Given the description of an element on the screen output the (x, y) to click on. 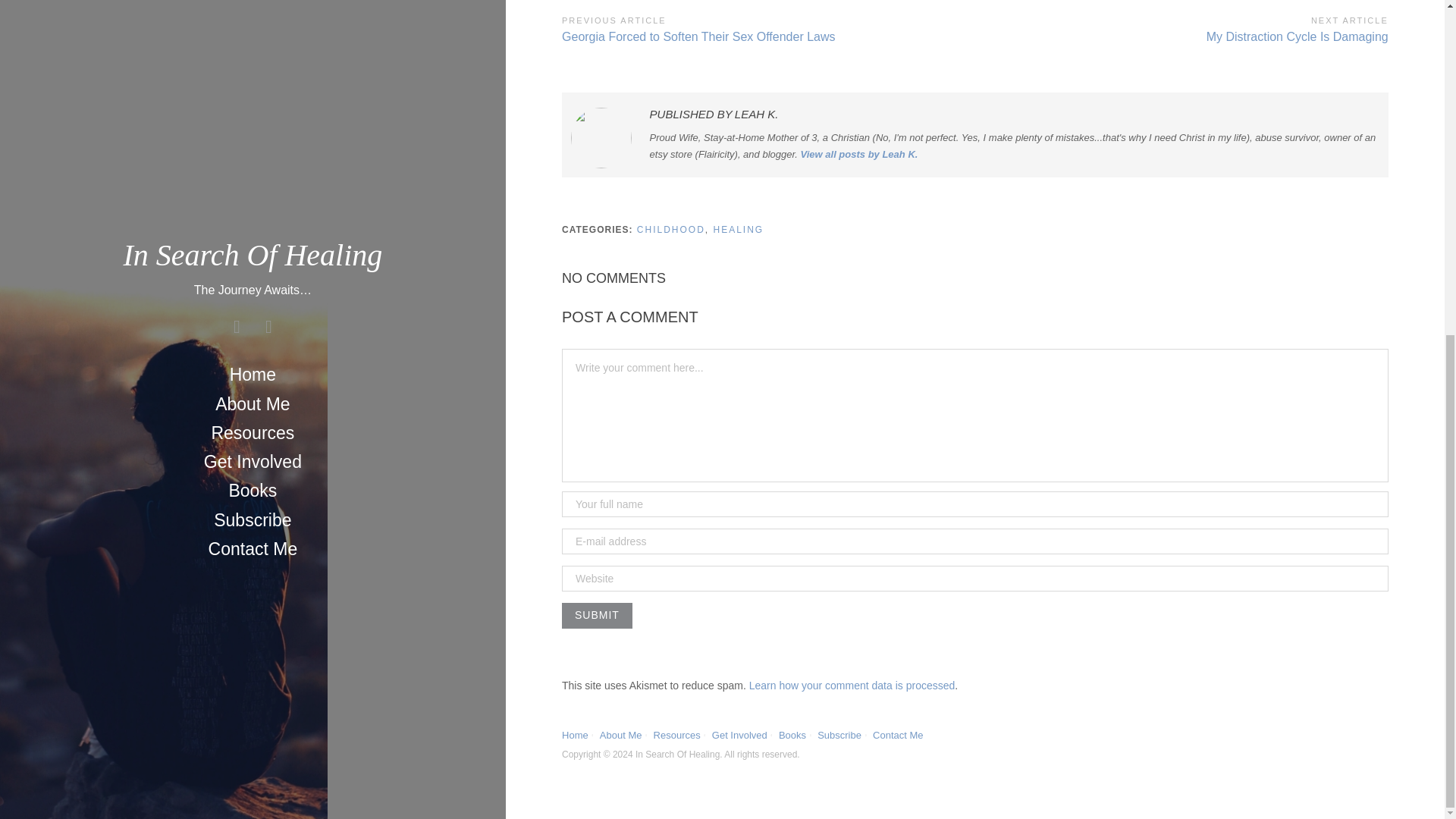
Subscribe (838, 735)
Submit (596, 615)
CHILDHOOD (670, 229)
View all posts by Leah K. (859, 153)
HEALING (738, 229)
Get Involved (1182, 27)
Submit (739, 735)
Contact Me (596, 615)
Resources (897, 735)
Books (676, 735)
About Me (792, 735)
Home (620, 735)
Contact Me (575, 735)
